Given the description of an element on the screen output the (x, y) to click on. 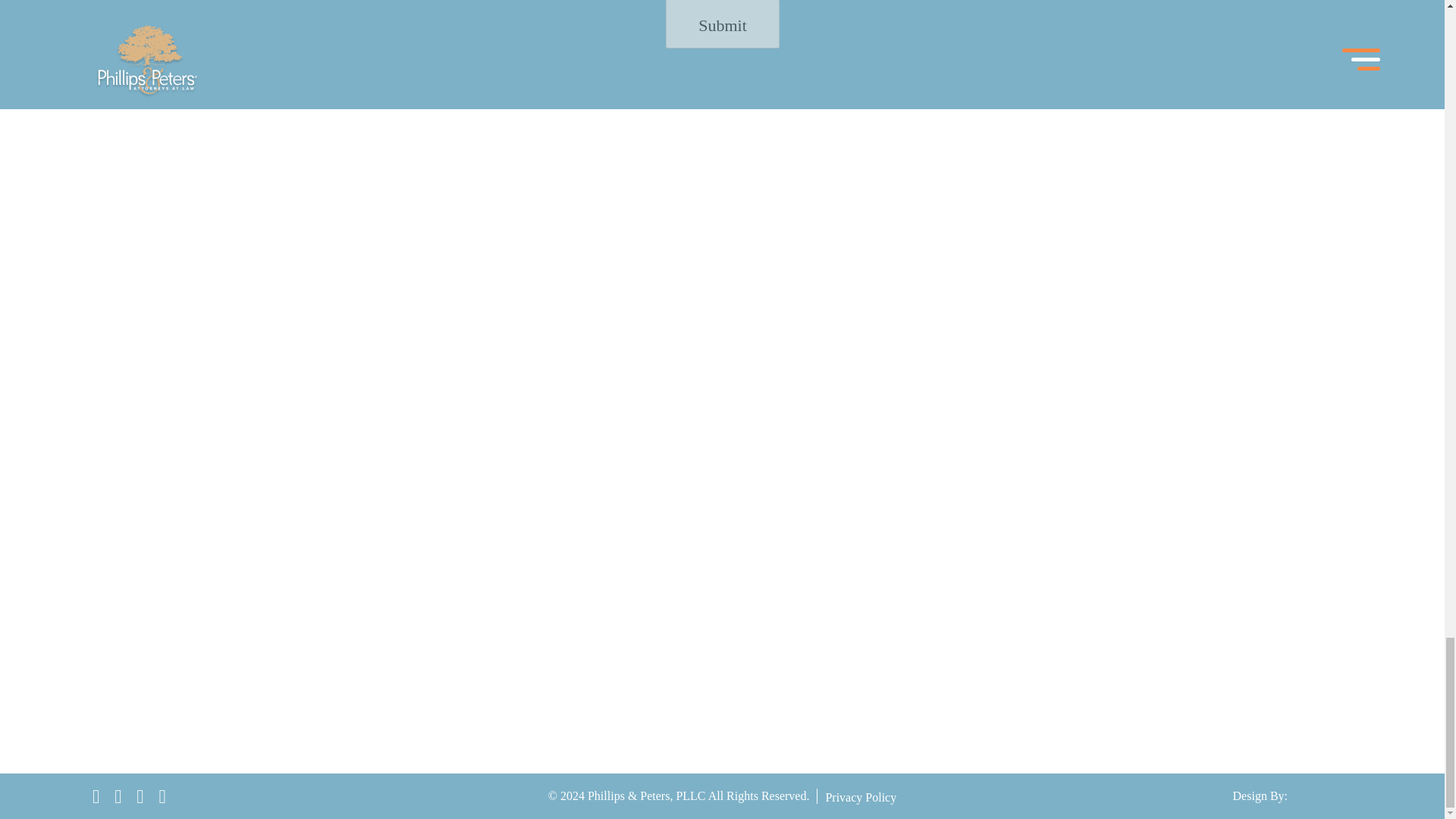
Techark Solution (1327, 796)
Privacy Policy (860, 797)
Submit (721, 24)
Submit (721, 24)
Techark Solution (1329, 795)
